Given the description of an element on the screen output the (x, y) to click on. 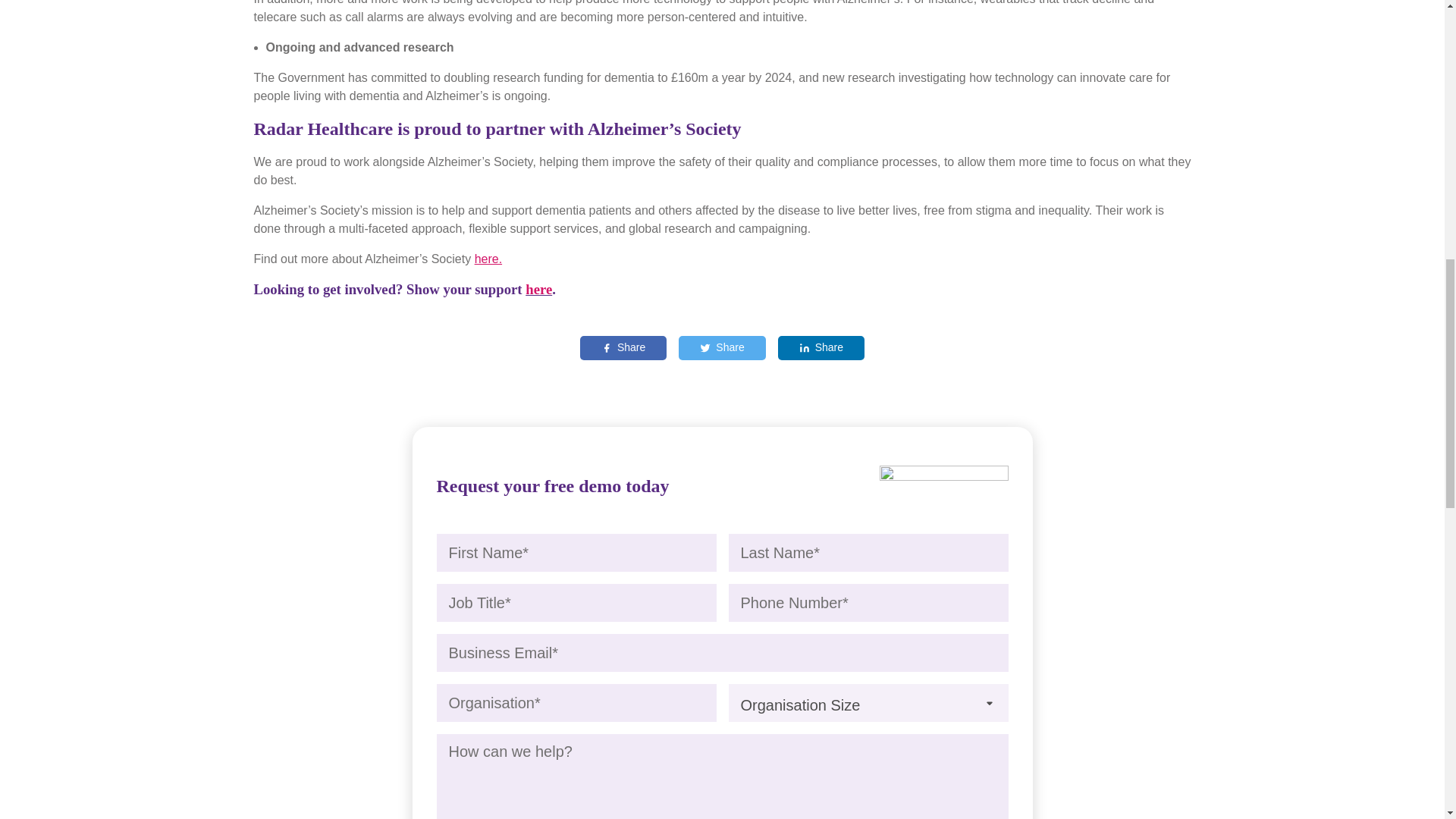
Share on LinkedIn (820, 347)
Share on Facebook (622, 347)
Share on Twitter (721, 347)
